Given the description of an element on the screen output the (x, y) to click on. 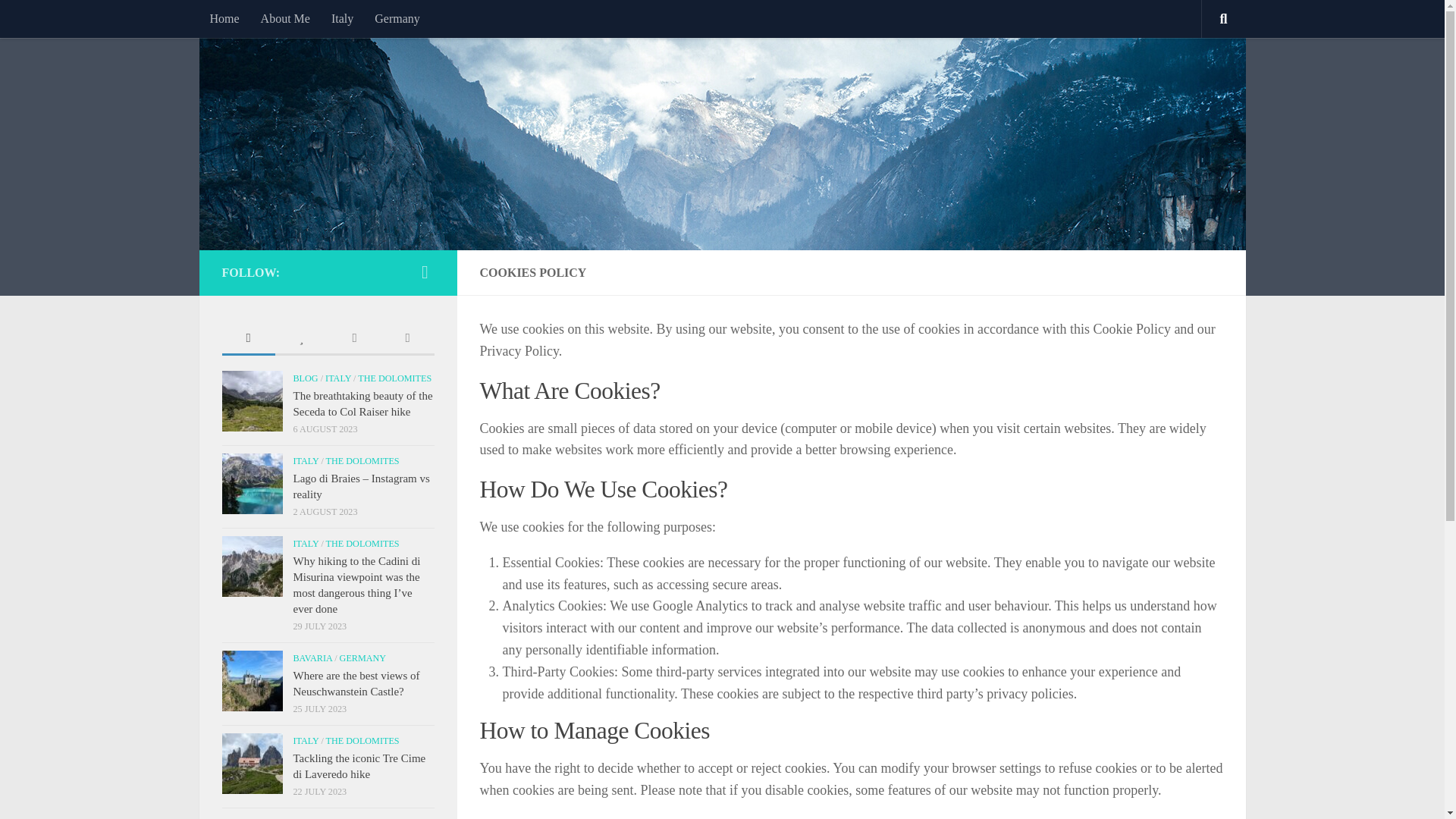
ITALY (305, 543)
About Me (285, 18)
Recent Posts (248, 338)
Where are the best views of Neuschwanstein Castle? (355, 683)
Follow us on Tiktok (423, 271)
Tags (406, 338)
GERMANY (363, 657)
Italy (342, 18)
BLOG (304, 378)
Home (223, 18)
ITALY (337, 378)
Recent Comments (353, 338)
THE DOLOMITES (362, 460)
THE DOLOMITES (394, 378)
Popular Posts (301, 338)
